Given the description of an element on the screen output the (x, y) to click on. 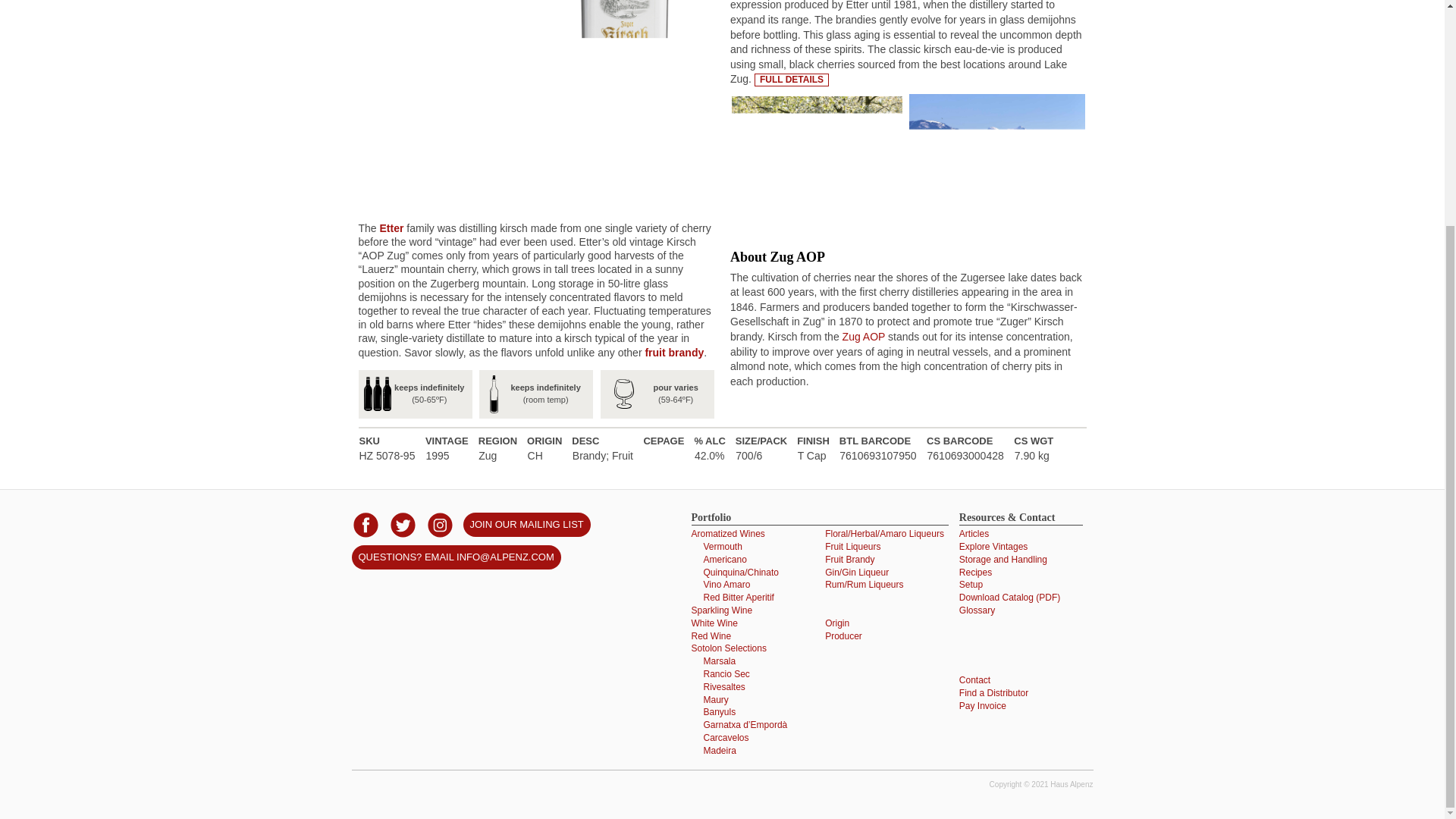
Etter Kirsch Eau-de-Vie 1995 label (447, 8)
Etter Kirsch Eau-de-Vie 1995 bottle (625, 198)
